Given the description of an element on the screen output the (x, y) to click on. 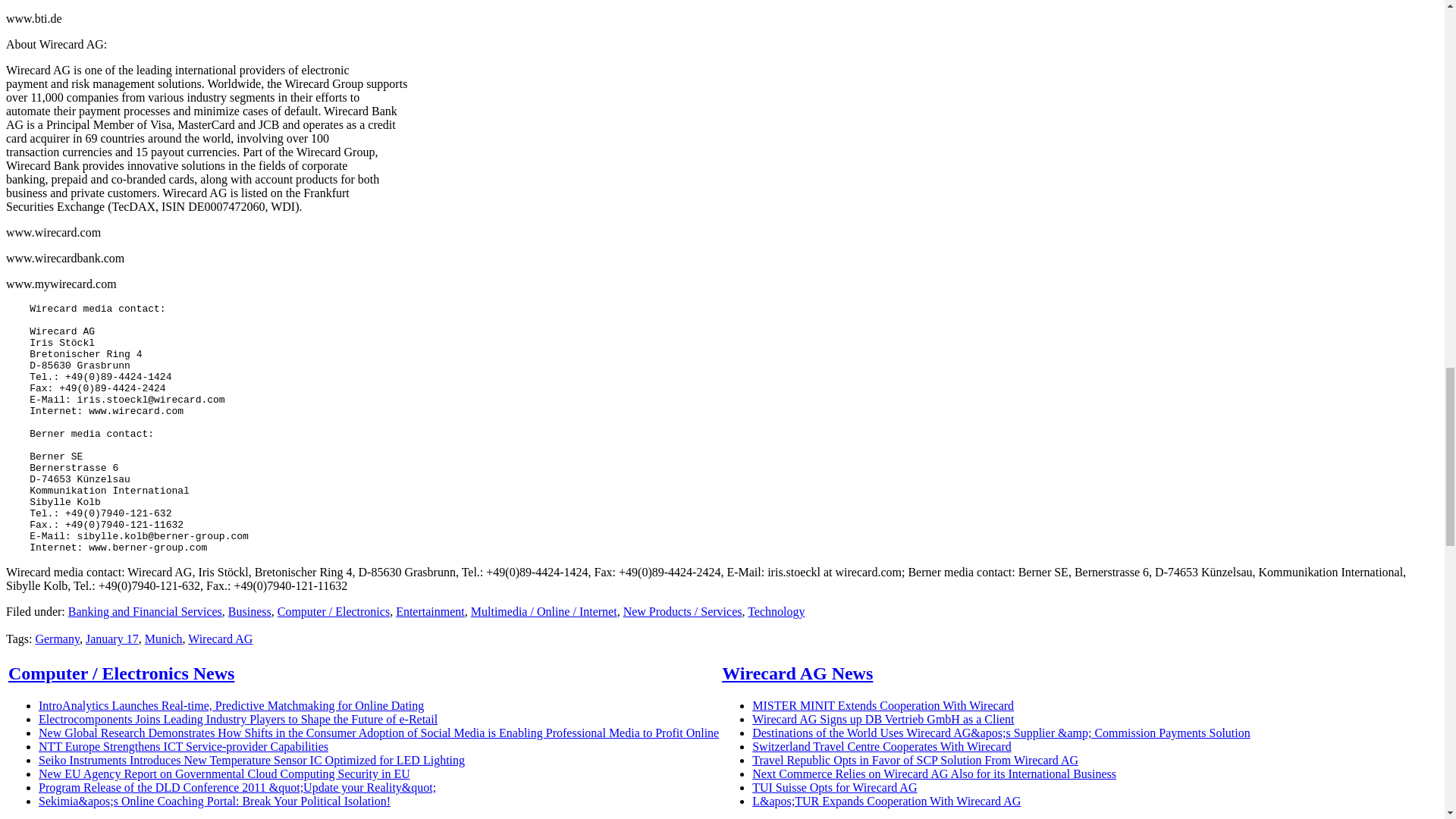
Technology (776, 611)
Business (249, 611)
Entertainment (430, 611)
Germany (57, 638)
Banking and Financial Services (145, 611)
